Given the description of an element on the screen output the (x, y) to click on. 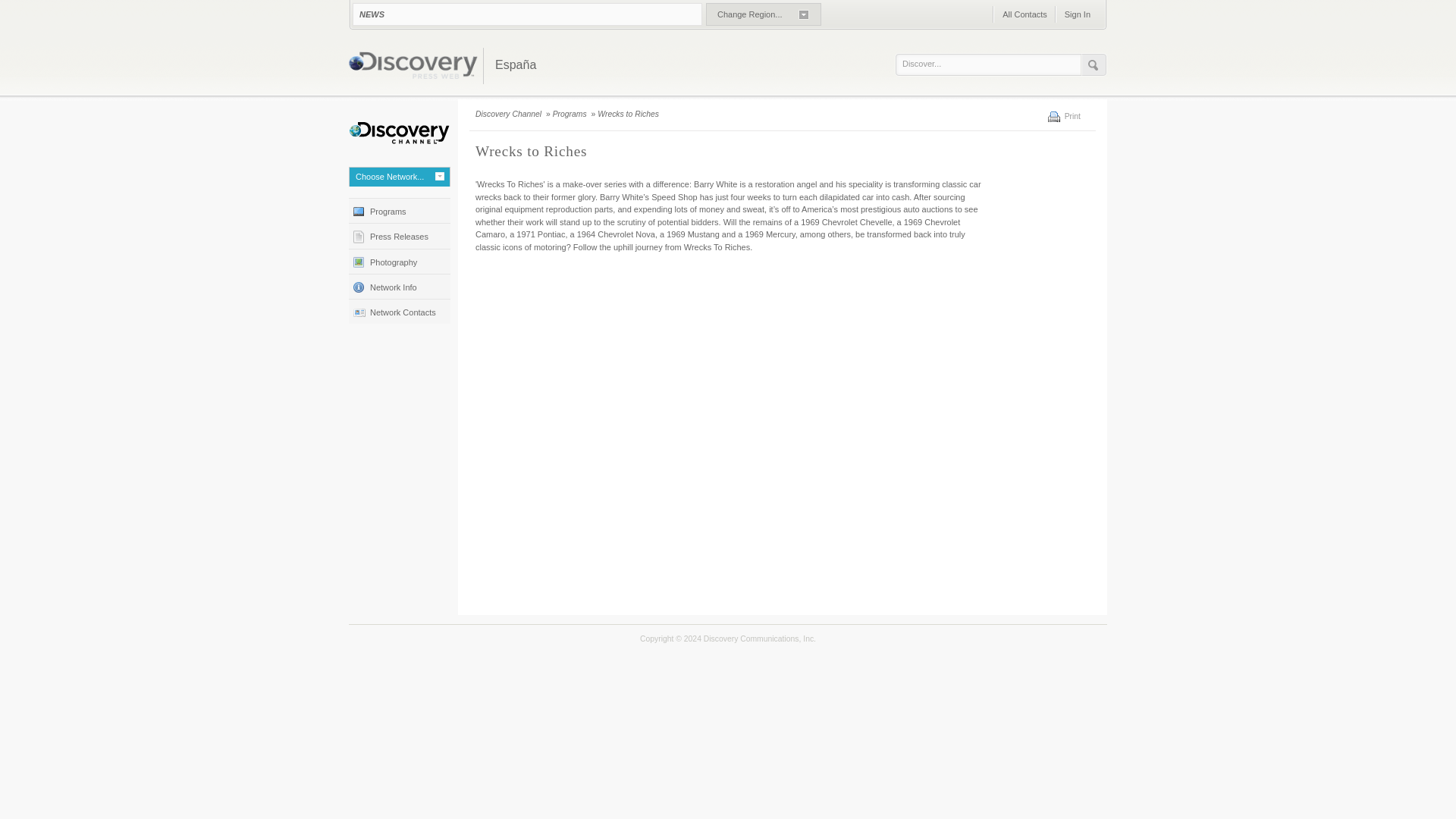
Network Contacts (399, 310)
Search (1093, 64)
Wrecks to Riches (628, 113)
Programs (399, 210)
Network Info (399, 285)
Discover... (991, 63)
Discovery Channel (399, 133)
Photography (399, 260)
All Contacts (1023, 13)
Programs (571, 113)
Discovery Press Web (413, 66)
Discovery Channel (509, 113)
Sign In (1076, 13)
Press Releases (399, 235)
